Given the description of an element on the screen output the (x, y) to click on. 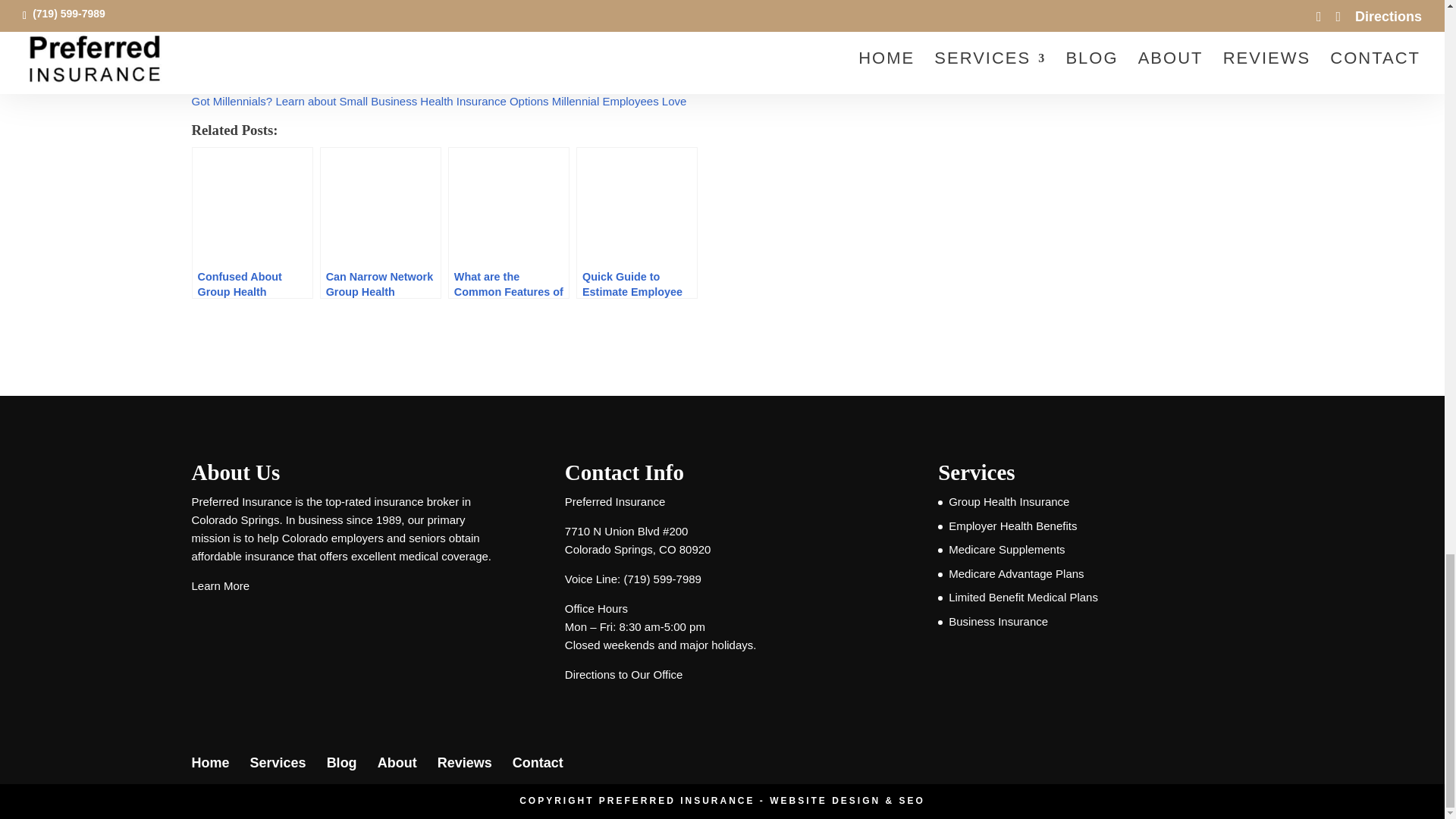
Medicare Advantage Plans (1016, 573)
Business Insurance (998, 621)
Services (277, 762)
Blog (341, 762)
Learn More (219, 585)
Home (209, 762)
Directions to Our Office (623, 674)
Medicare Supplements (1006, 549)
Colorado Small Business Health Insurance Broker (317, 71)
Group Health Insurance (1008, 501)
